Given the description of an element on the screen output the (x, y) to click on. 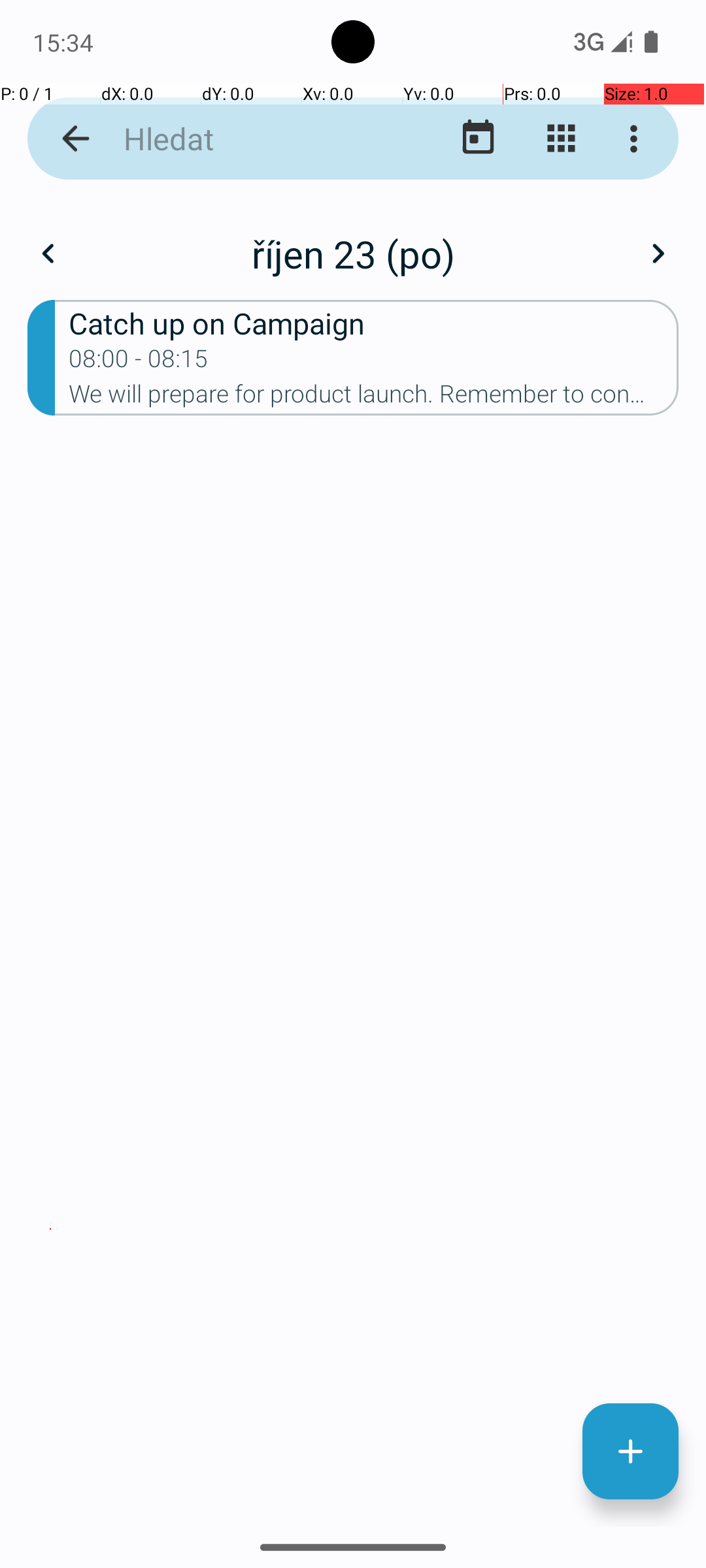
Přejít na dnešní datum Element type: android.widget.Button (477, 138)
říjen Element type: android.widget.TextView (352, 239)
říjen 23 (po) Element type: android.widget.TextView (352, 253)
08:00 - 08:15 Element type: android.widget.TextView (137, 362)
We will prepare for product launch. Remember to confirm attendance. Element type: android.widget.TextView (373, 397)
